Given the description of an element on the screen output the (x, y) to click on. 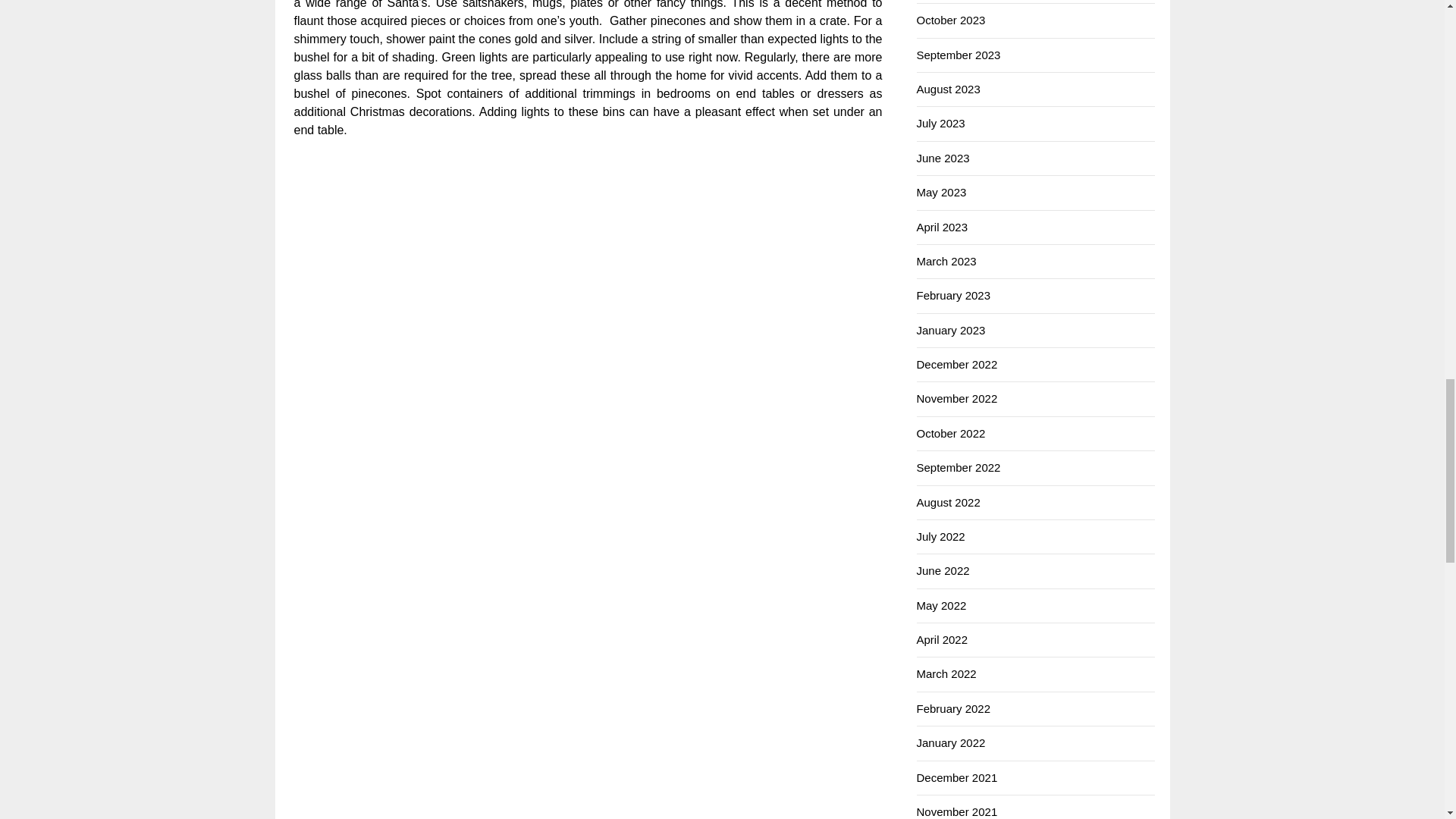
June 2023 (942, 157)
March 2023 (945, 260)
September 2023 (957, 54)
July 2023 (939, 123)
May 2023 (940, 192)
January 2023 (950, 329)
October 2023 (950, 19)
February 2023 (952, 295)
April 2023 (941, 226)
August 2023 (947, 88)
